Given the description of an element on the screen output the (x, y) to click on. 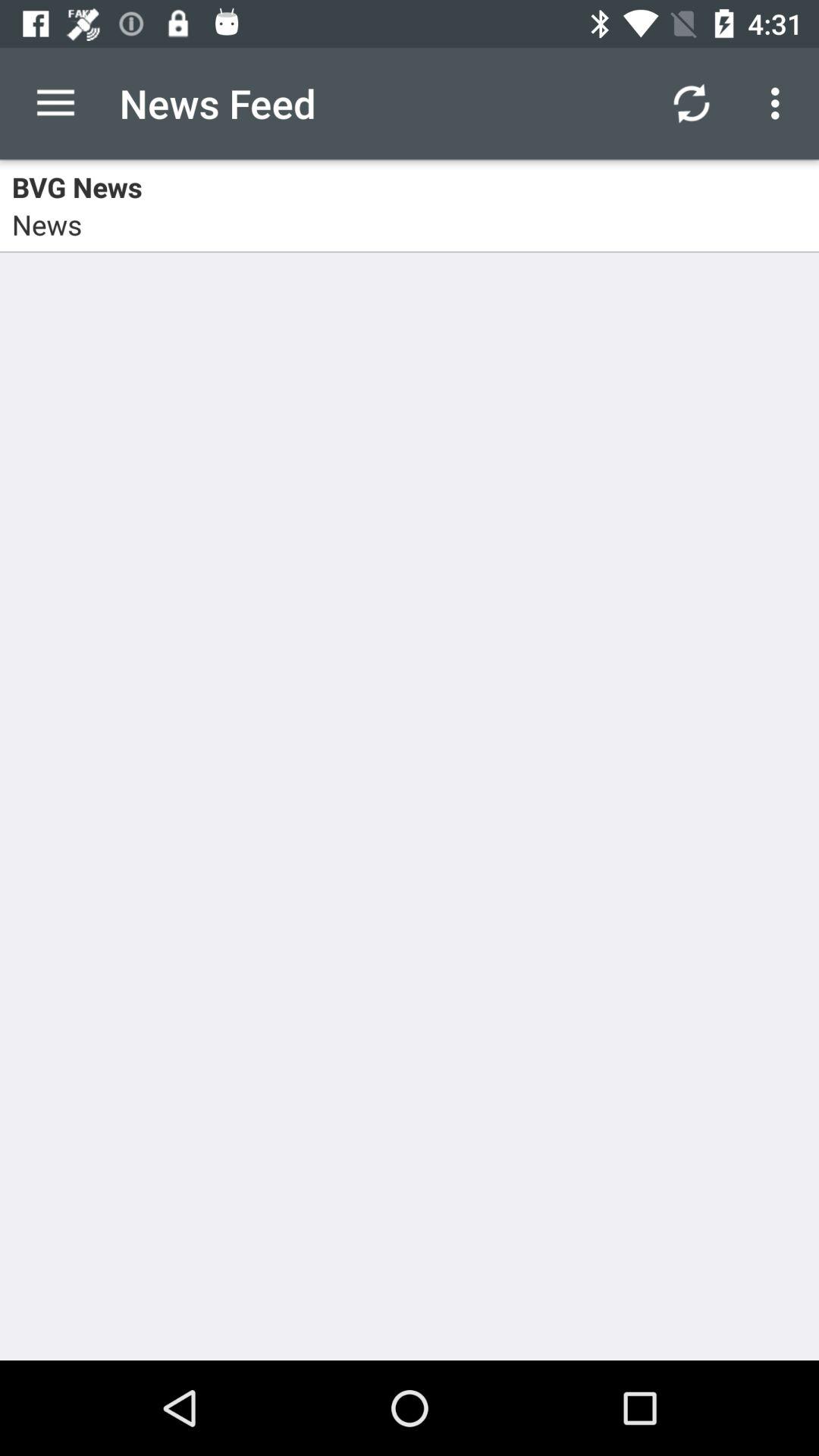
open item to the left of the news feed (55, 103)
